Given the description of an element on the screen output the (x, y) to click on. 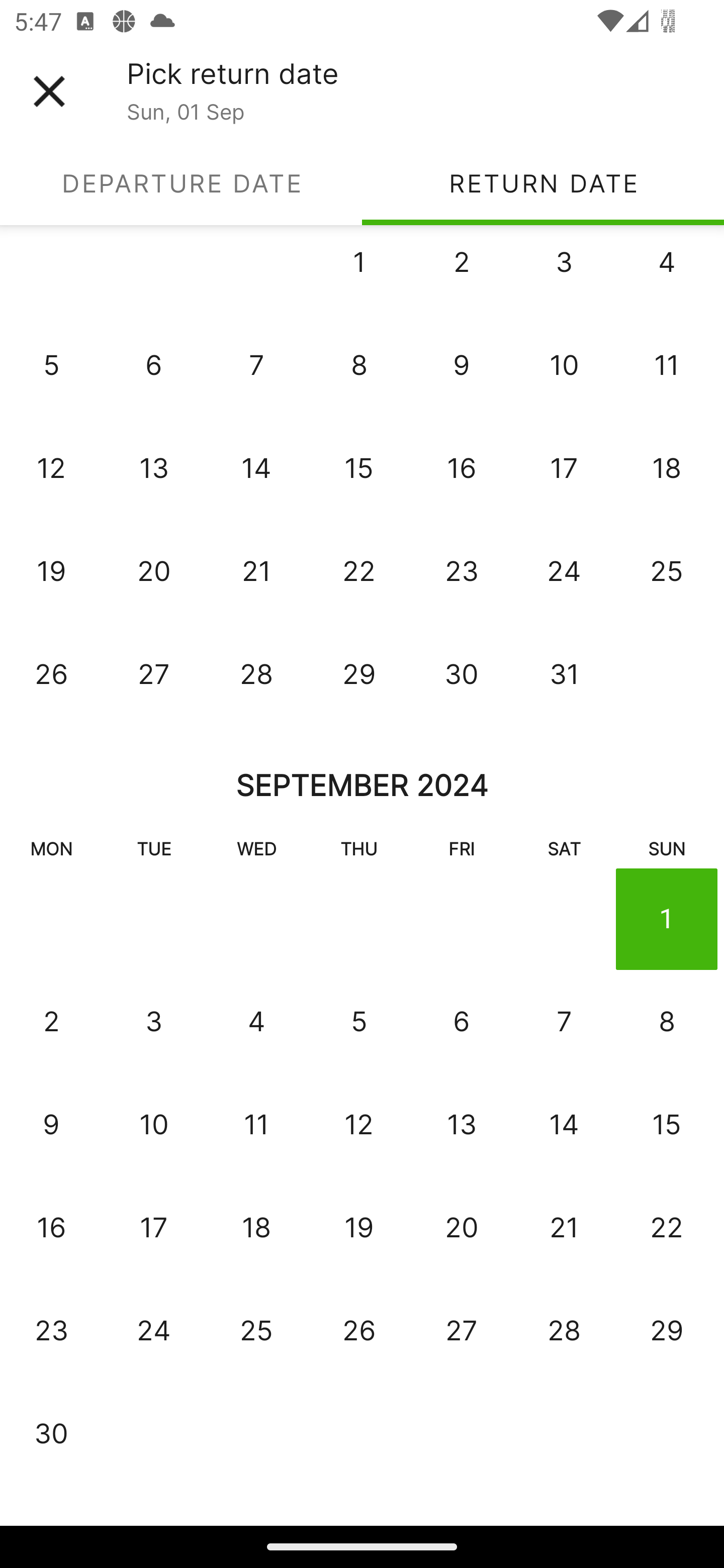
Departure Date DEPARTURE DATE (181, 183)
